Given the description of an element on the screen output the (x, y) to click on. 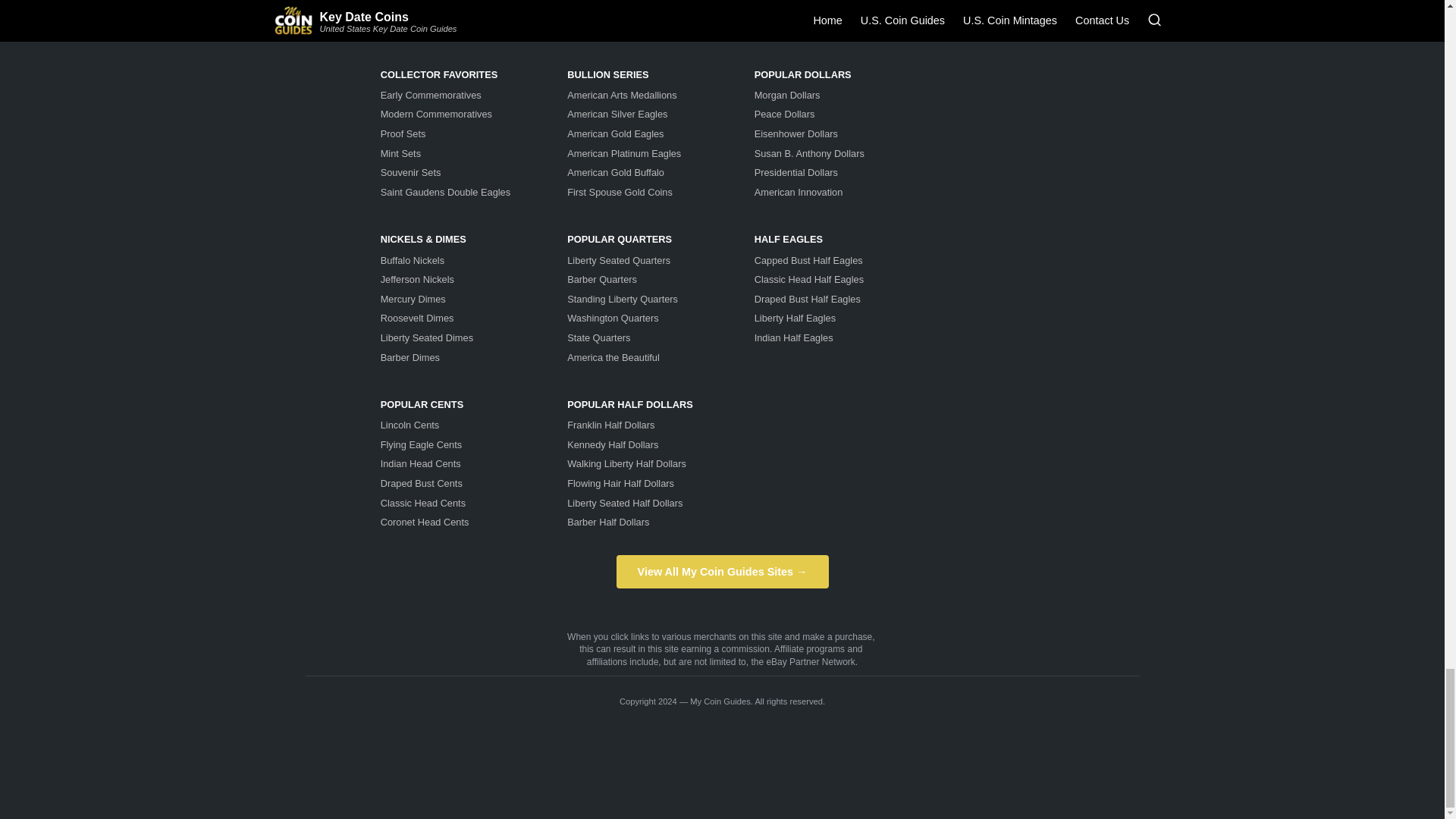
Souvenir Sets (410, 172)
First Spouse Gold Coins (619, 192)
Peace Dollars (784, 113)
Proof Sets (403, 133)
American Silver Eagles (616, 113)
Mint Sets (400, 153)
Modern Commemoratives (436, 113)
Saint Gaudens Double Eagles (445, 192)
Morgan Dollars (787, 94)
Eisenhower Dollars (796, 133)
